Given the description of an element on the screen output the (x, y) to click on. 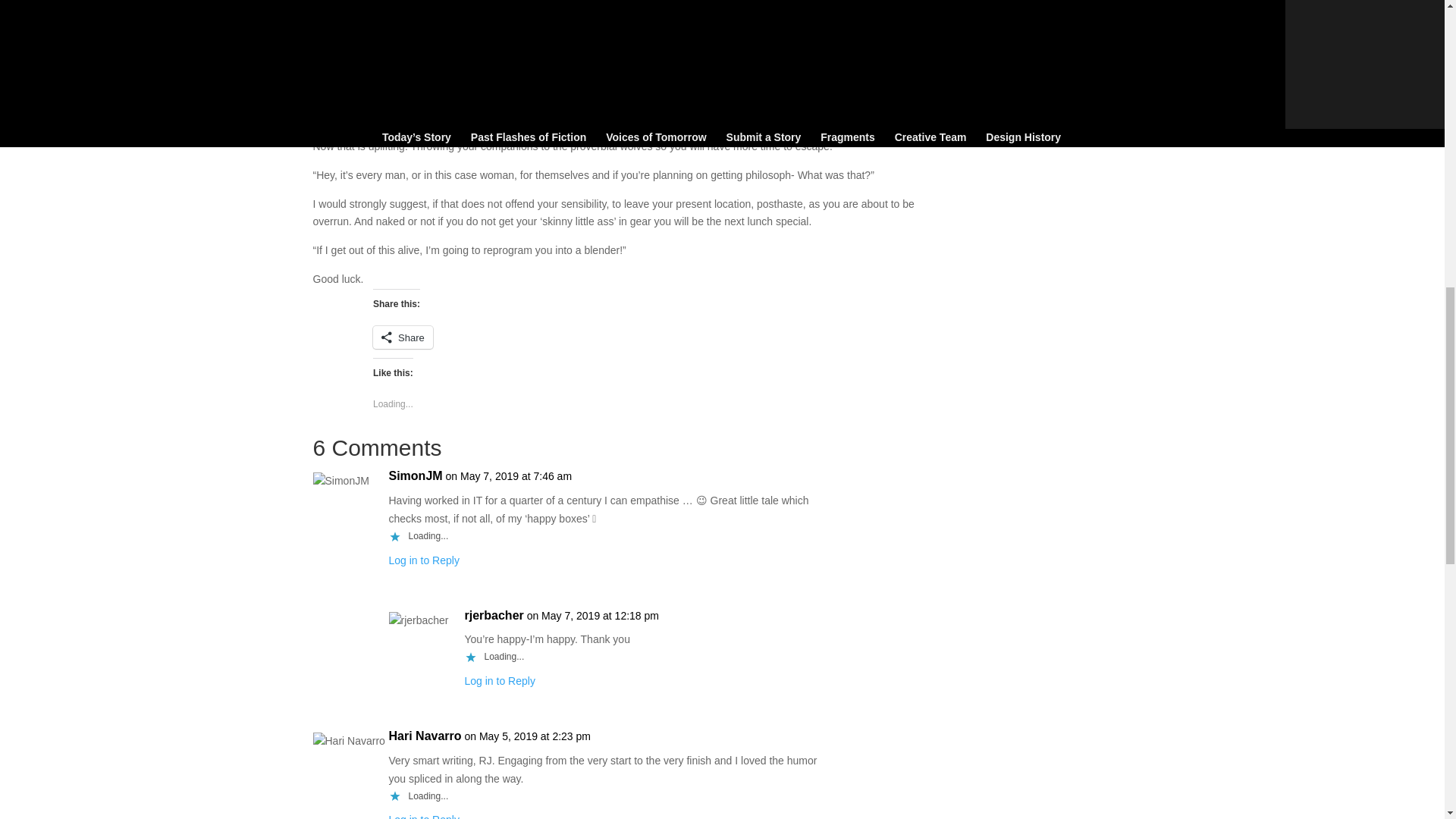
Log in to Reply (499, 680)
Share (402, 336)
Log in to Reply (423, 816)
Hari Navarro (424, 736)
Log in to Reply (423, 560)
